Given the description of an element on the screen output the (x, y) to click on. 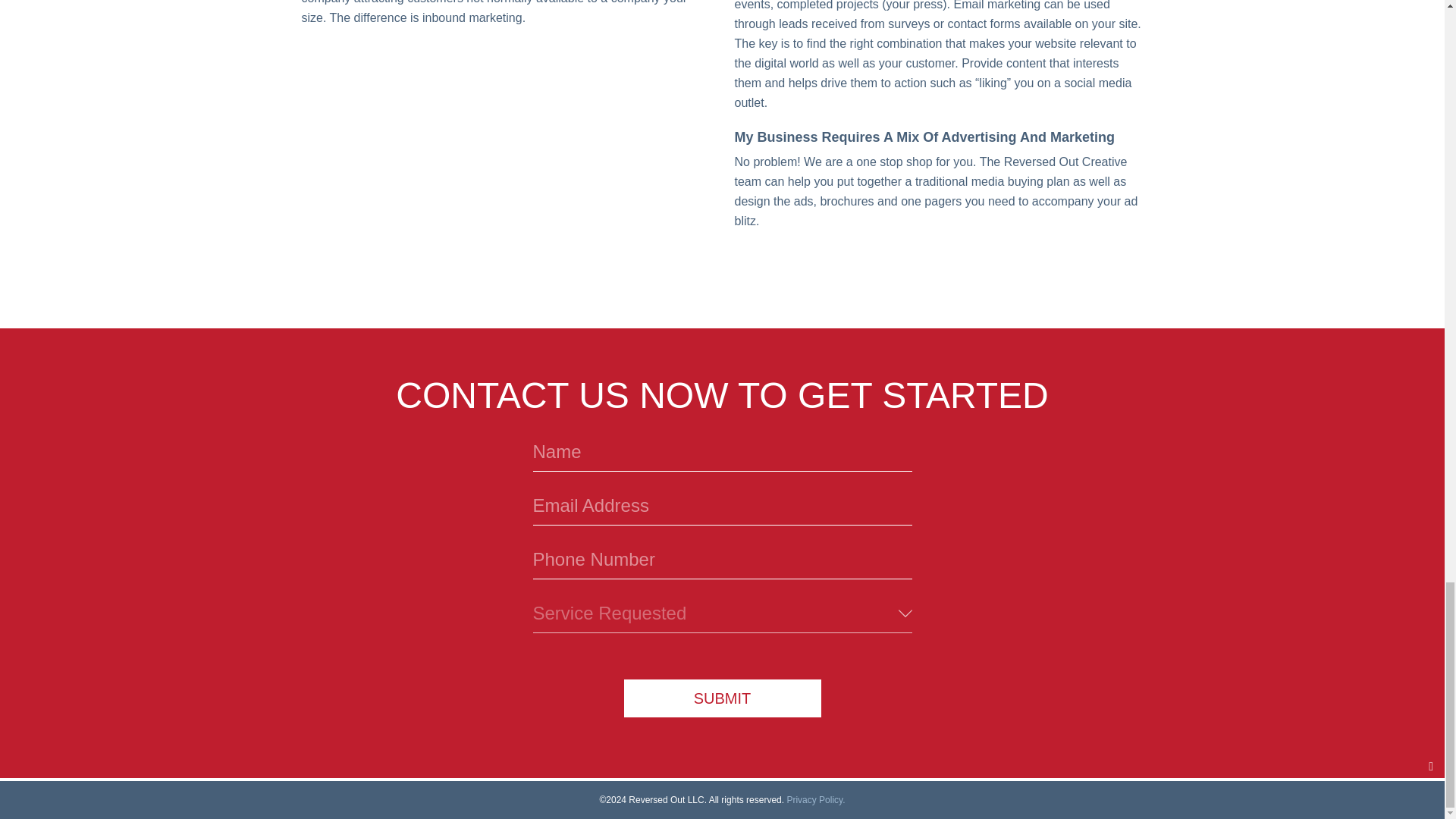
Submit (722, 698)
Submit (722, 698)
Privacy Policy. (815, 799)
